Given the description of an element on the screen output the (x, y) to click on. 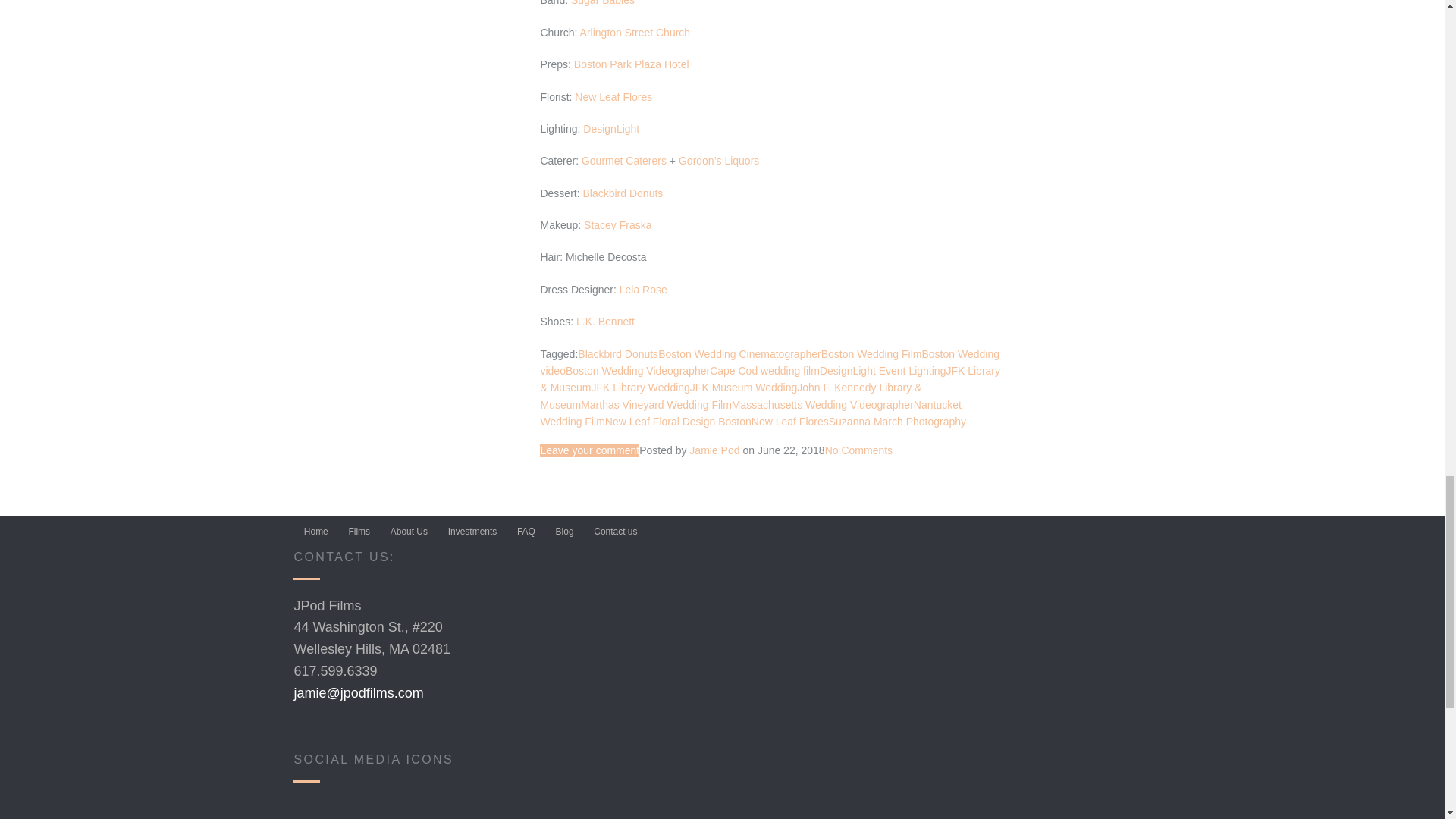
Visit Us On Instagram (457, 814)
Visit Us On Linkedin (384, 814)
Sugar Babies (602, 2)
Visit Us On Youtube (348, 814)
Visit Us On Twitter (421, 814)
About Us (409, 531)
Visit Us On Facebook (312, 814)
View all posts by Jamie Pod (713, 450)
